Given the description of an element on the screen output the (x, y) to click on. 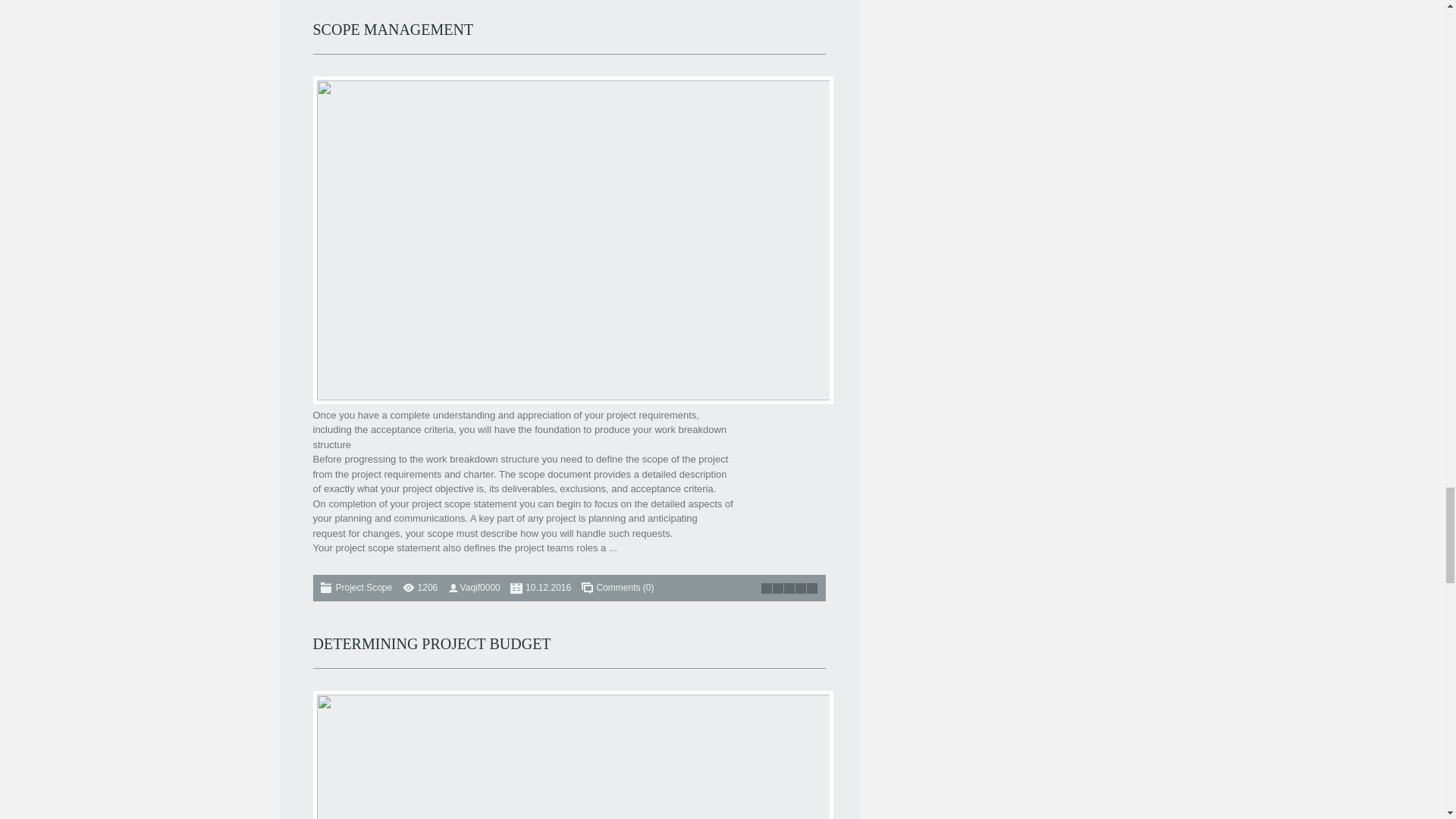
00:20 (547, 587)
